Given the description of an element on the screen output the (x, y) to click on. 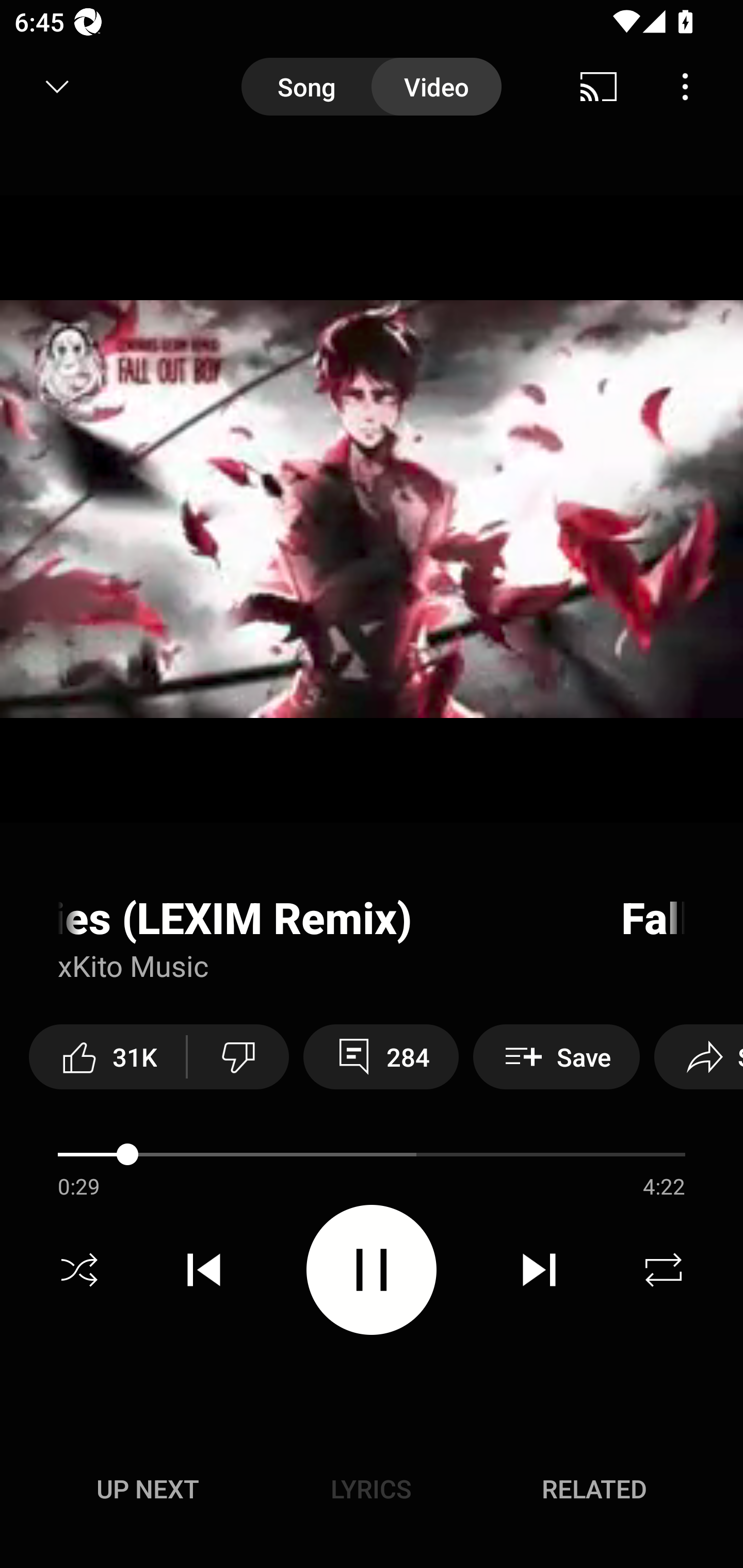
Back (50, 86)
Cast. Disconnected (598, 86)
Menu (684, 86)
31K like this video along with 31,928 other people (106, 1056)
Dislike (238, 1056)
284 View 284 comments (380, 1056)
Save Save to playlist (556, 1056)
Share (698, 1056)
Pause video (371, 1269)
Shuffle off (79, 1269)
Previous track (203, 1269)
Next track (538, 1269)
Repeat off (663, 1269)
Up next UP NEXT Lyrics LYRICS Related RELATED (371, 1491)
Lyrics LYRICS (370, 1488)
Related RELATED (594, 1488)
